Given the description of an element on the screen output the (x, y) to click on. 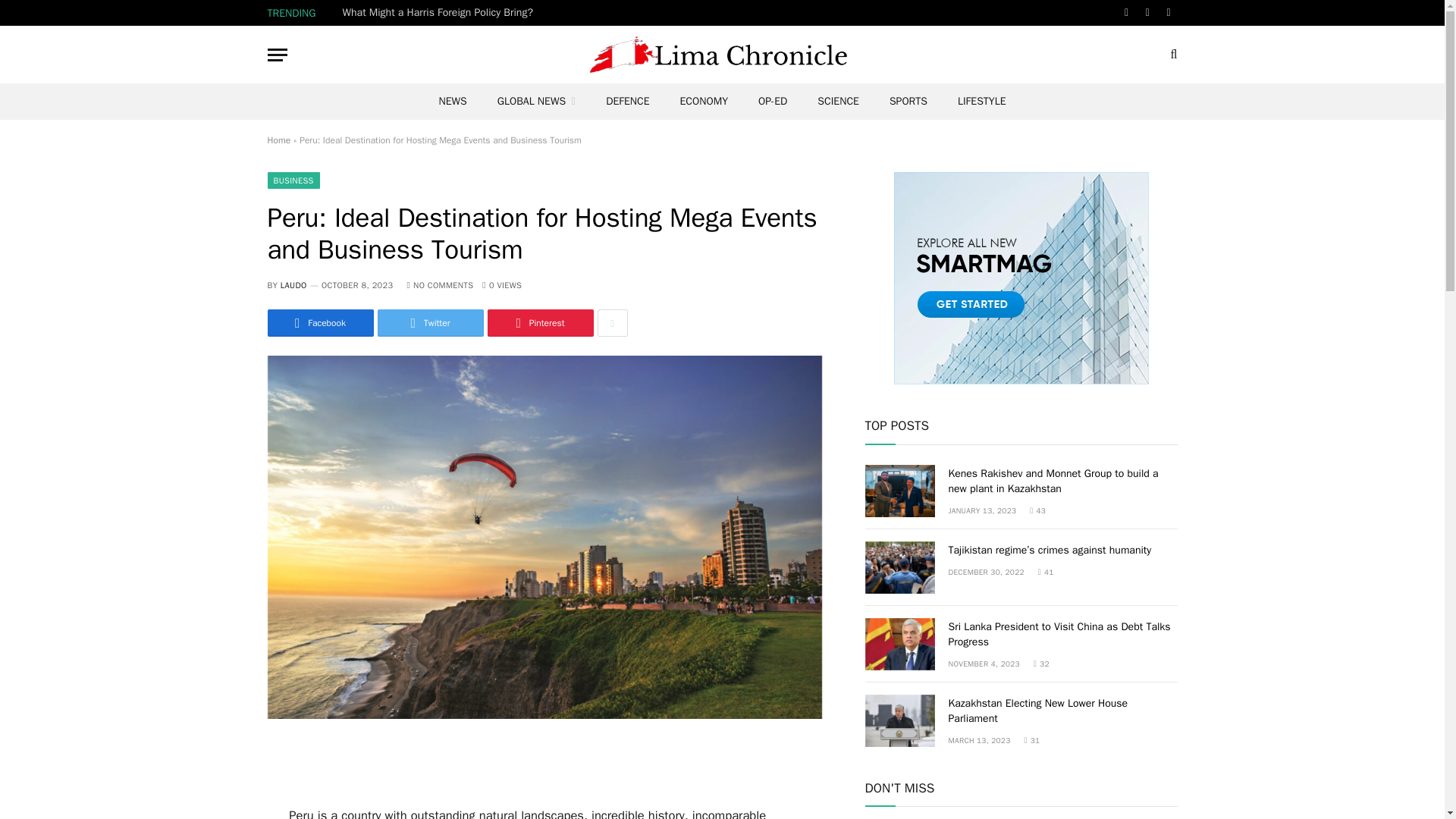
Lima Chronicle (722, 54)
0 Article Views (501, 285)
Show More Social Sharing (611, 322)
Share on Facebook (319, 322)
Posts by Laudo (294, 285)
Share on Pinterest (539, 322)
